Given the description of an element on the screen output the (x, y) to click on. 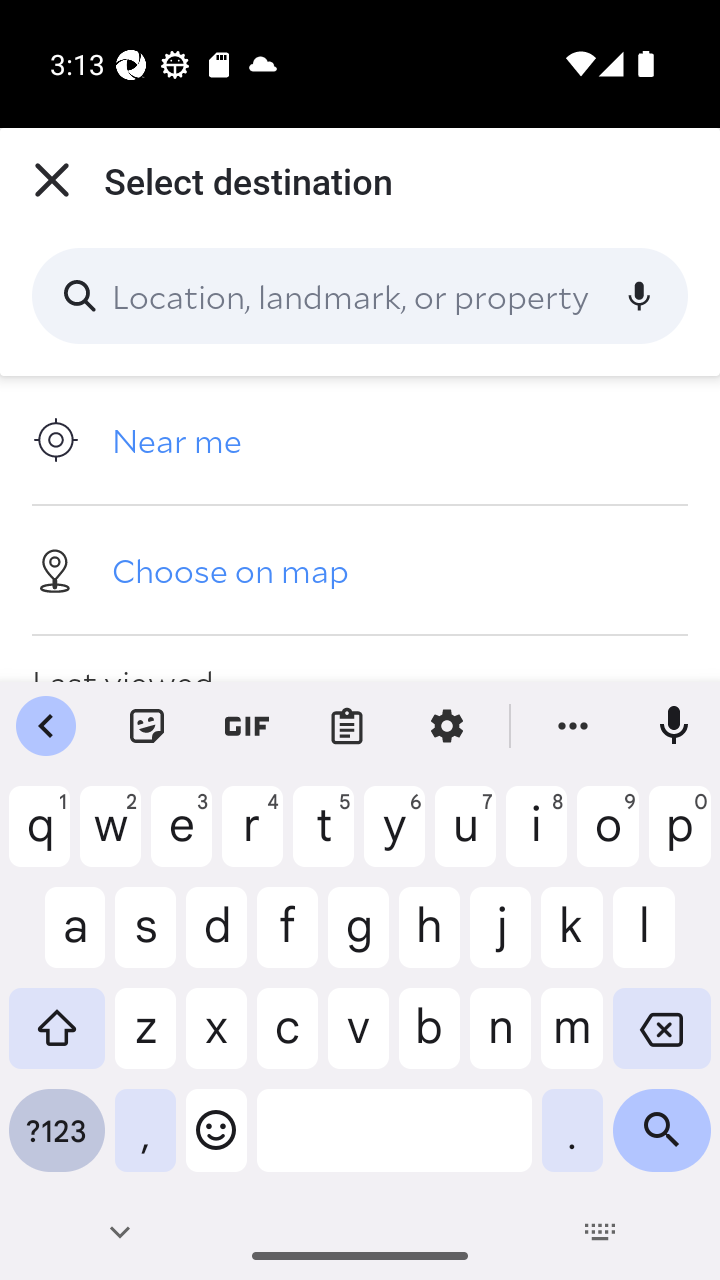
Location, landmark, or property (359, 296)
Near me (360, 440)
Choose on map (360, 569)
